Given the description of an element on the screen output the (x, y) to click on. 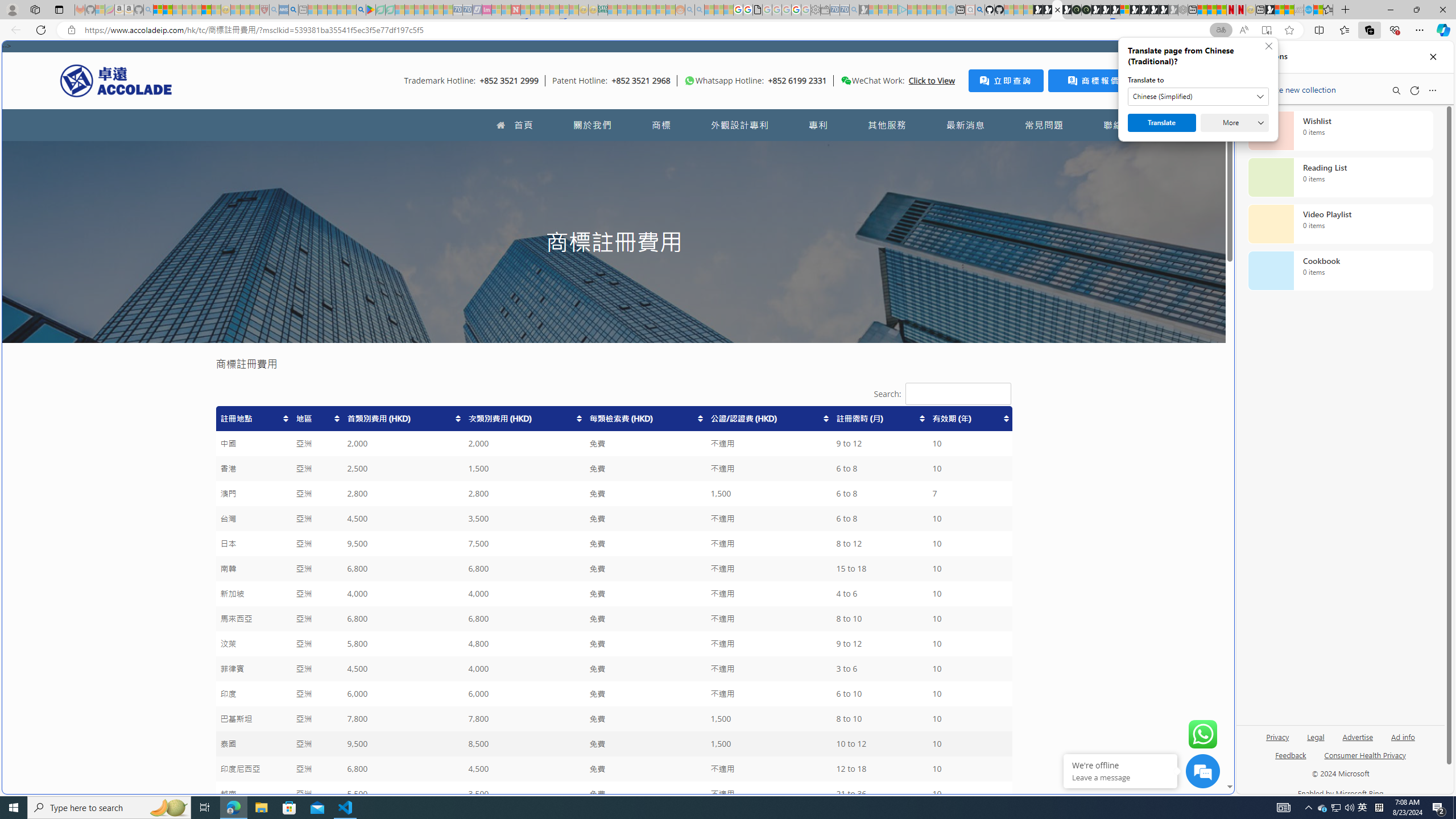
utah sues federal government - Search (292, 9)
Ad info (1402, 741)
Feedback (1290, 754)
Expert Portfolios - Sleeping (640, 9)
Ad info (1402, 736)
Terms of Use Agreement - Sleeping (380, 9)
